Given the description of an element on the screen output the (x, y) to click on. 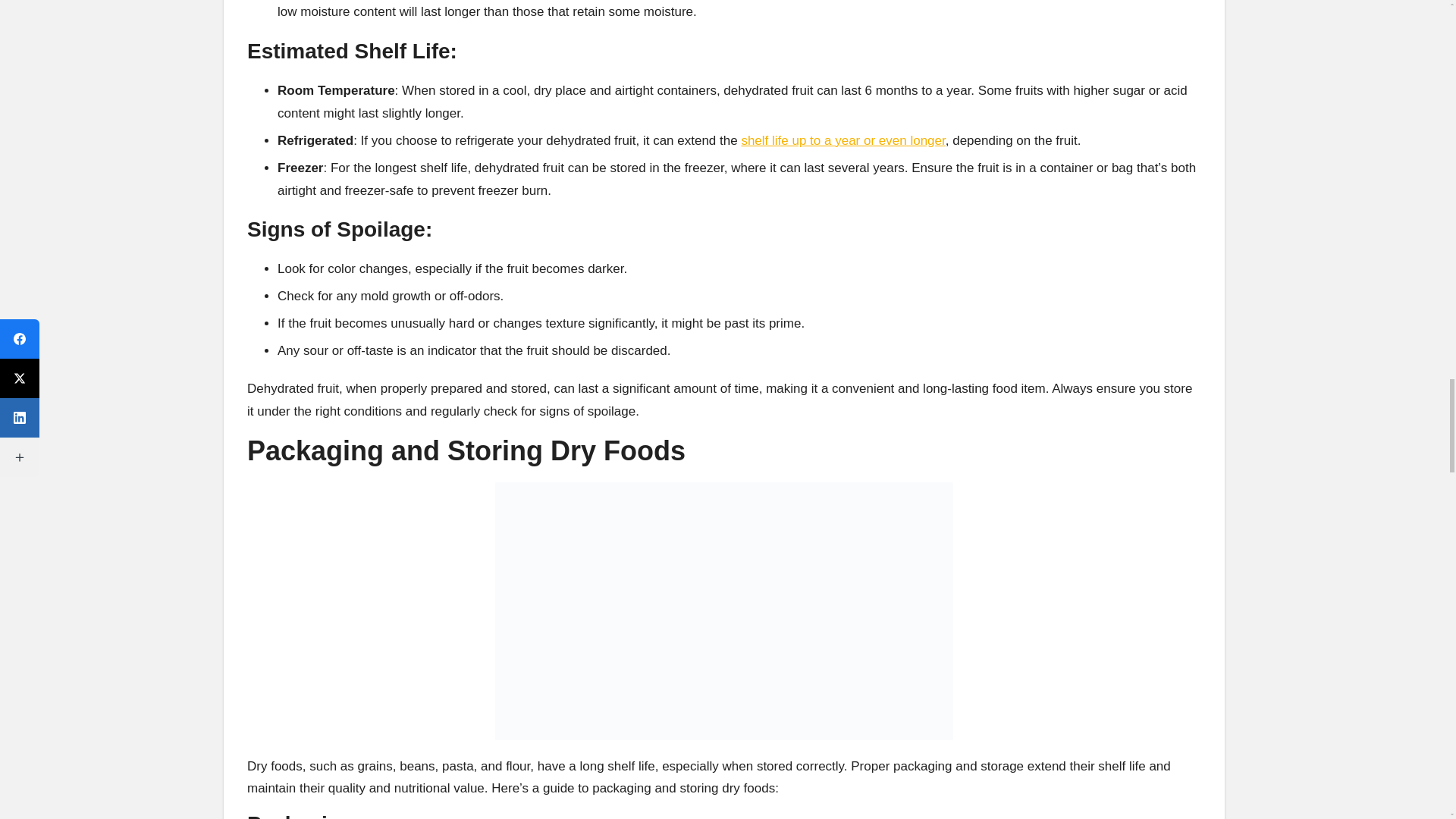
How Long Does Dried Fruit Last in the Pantry? 3 (724, 611)
